Given the description of an element on the screen output the (x, y) to click on. 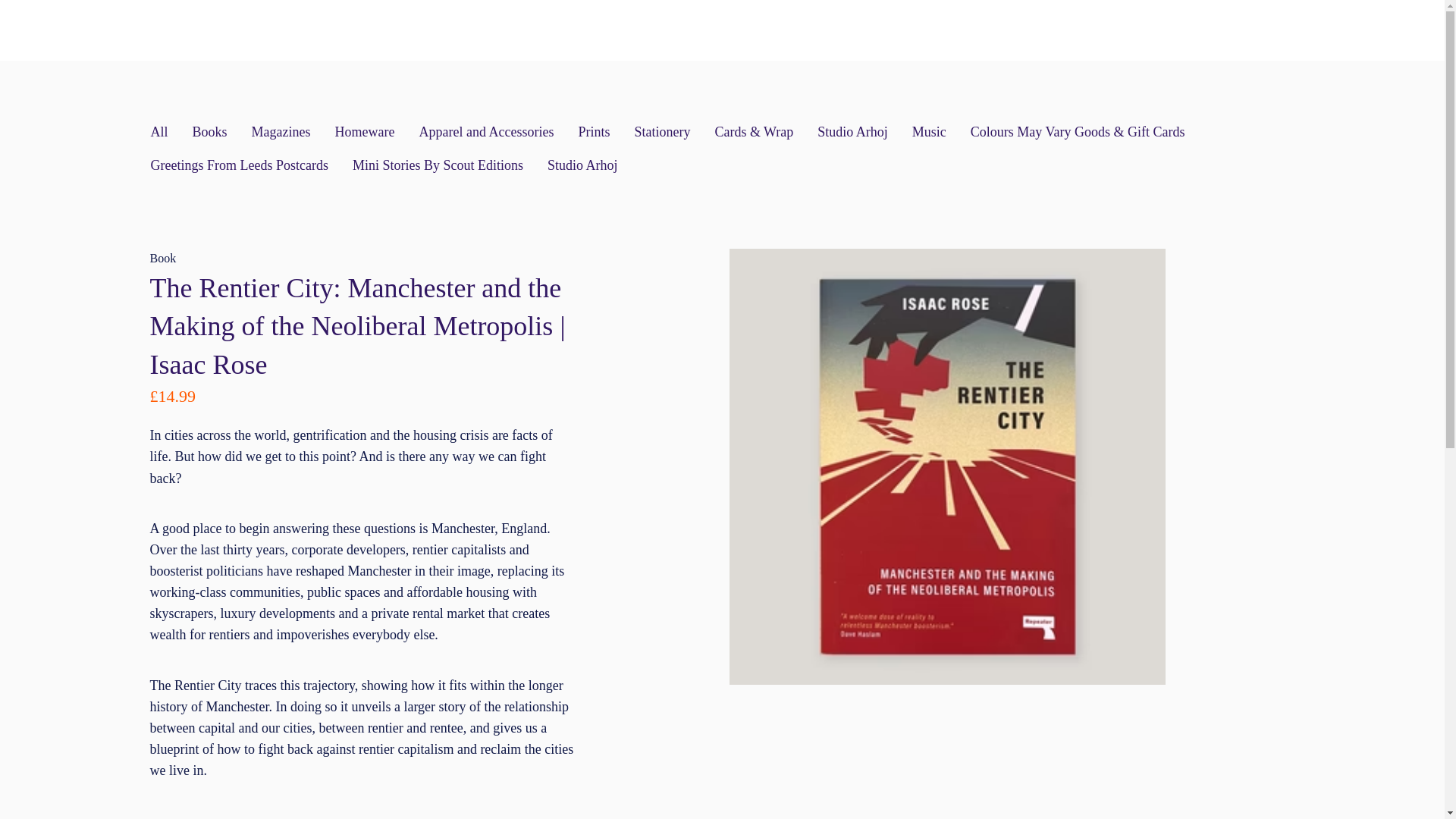
All (158, 131)
Books (209, 131)
Studio Arhoj (582, 165)
Prints (594, 131)
Apparel and Accessories (486, 131)
Stationery (661, 131)
Homeware (364, 131)
Mini Stories By Scout Editions (437, 165)
Magazines (281, 131)
Greetings From Leeds Postcards (238, 165)
